Given the description of an element on the screen output the (x, y) to click on. 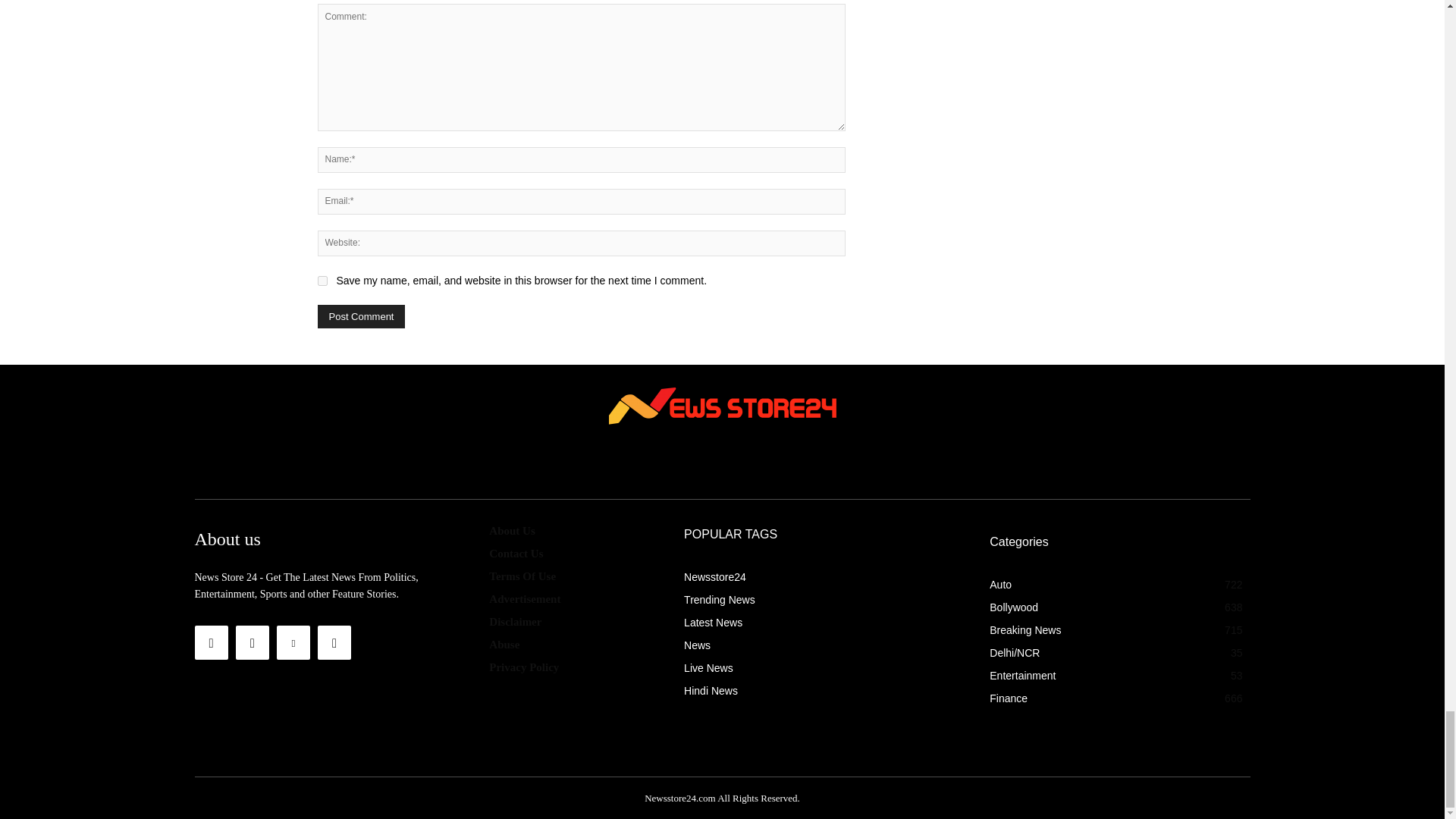
Post Comment (360, 316)
yes (321, 280)
